Given the description of an element on the screen output the (x, y) to click on. 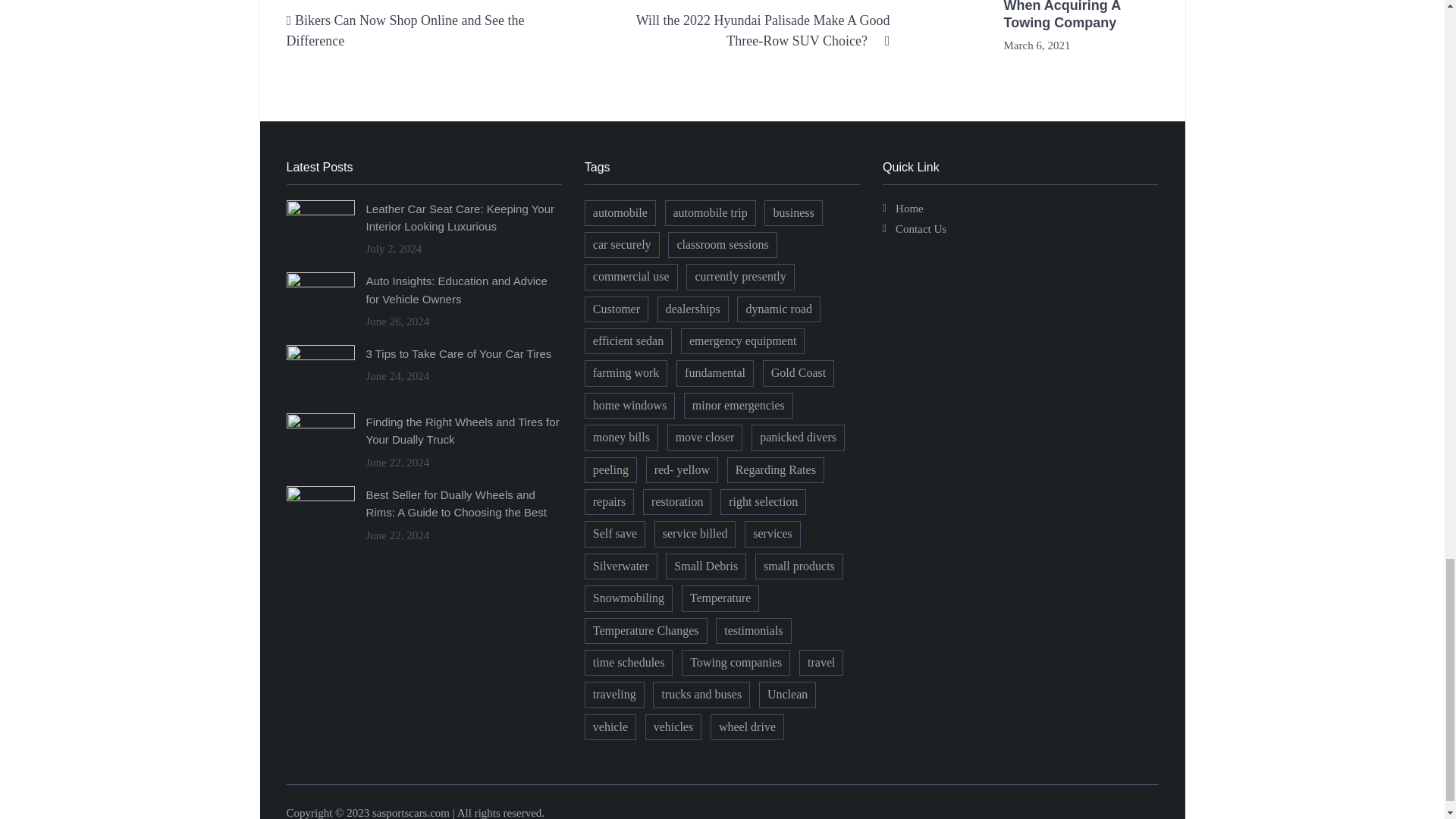
Bikers Can Now Shop Online and See the Difference (405, 30)
